Given the description of an element on the screen output the (x, y) to click on. 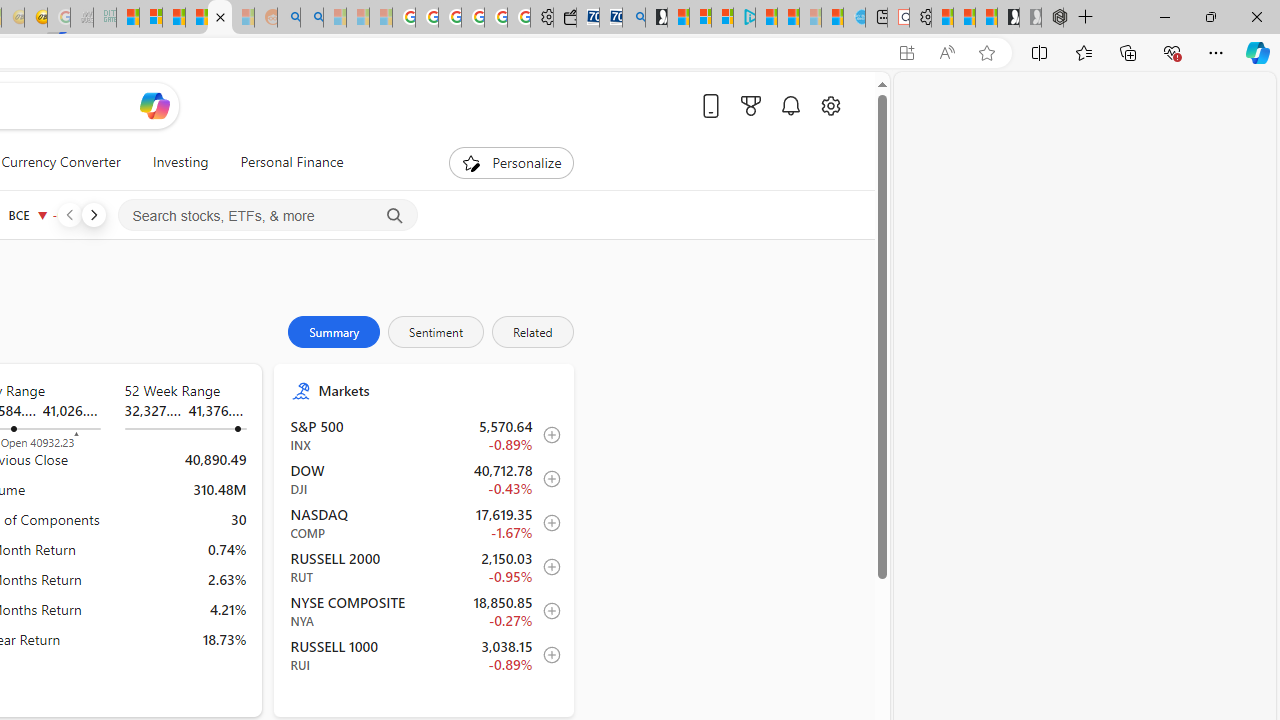
INX S&P 500 decrease 5,570.64 -50.21 -0.89% itemundefined (423, 435)
Open settings (830, 105)
Student Loan Update: Forgiveness Program Ends This Month (196, 17)
